Given the description of an element on the screen output the (x, y) to click on. 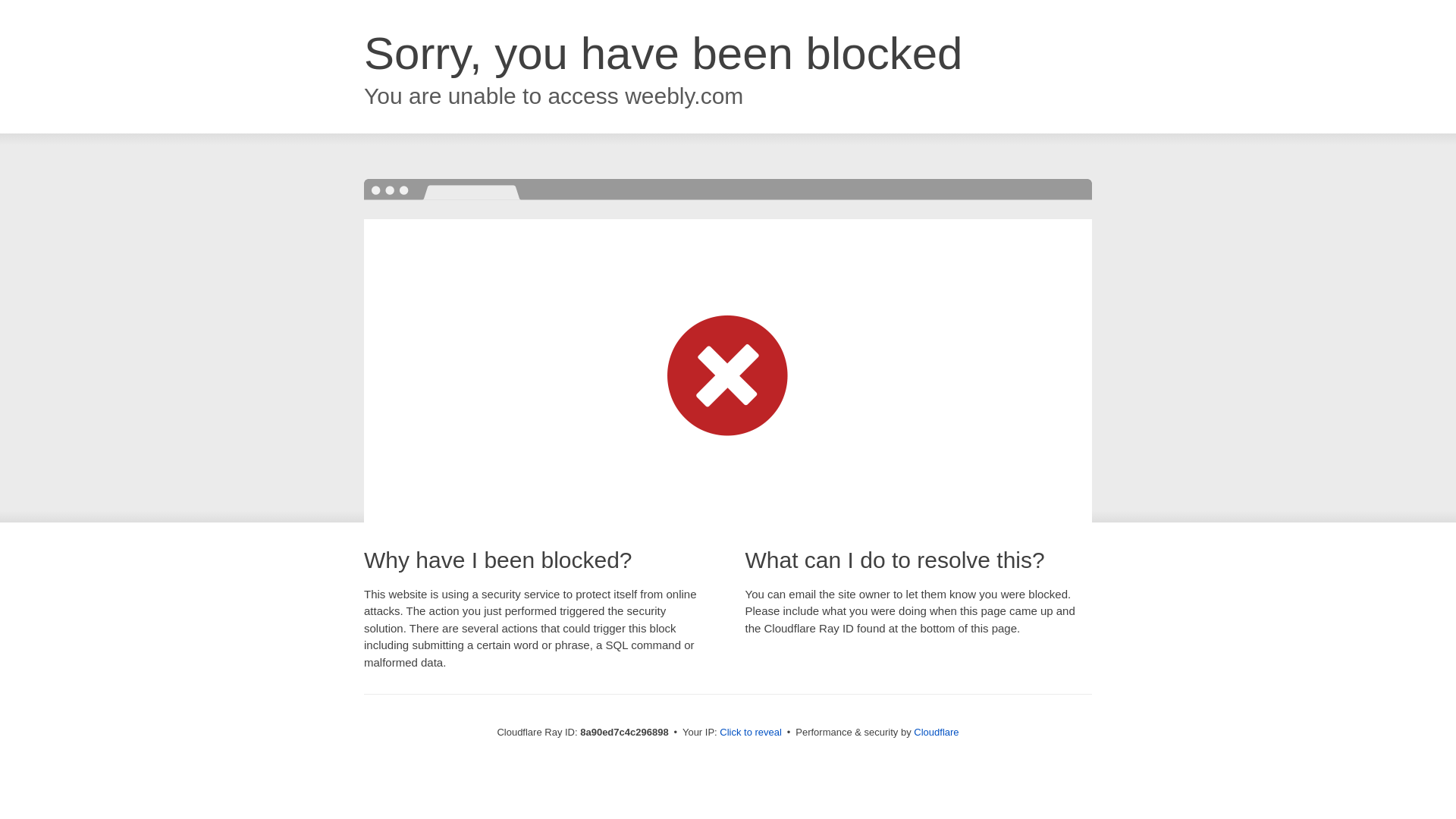
Click to reveal (750, 732)
Cloudflare (936, 731)
